Given the description of an element on the screen output the (x, y) to click on. 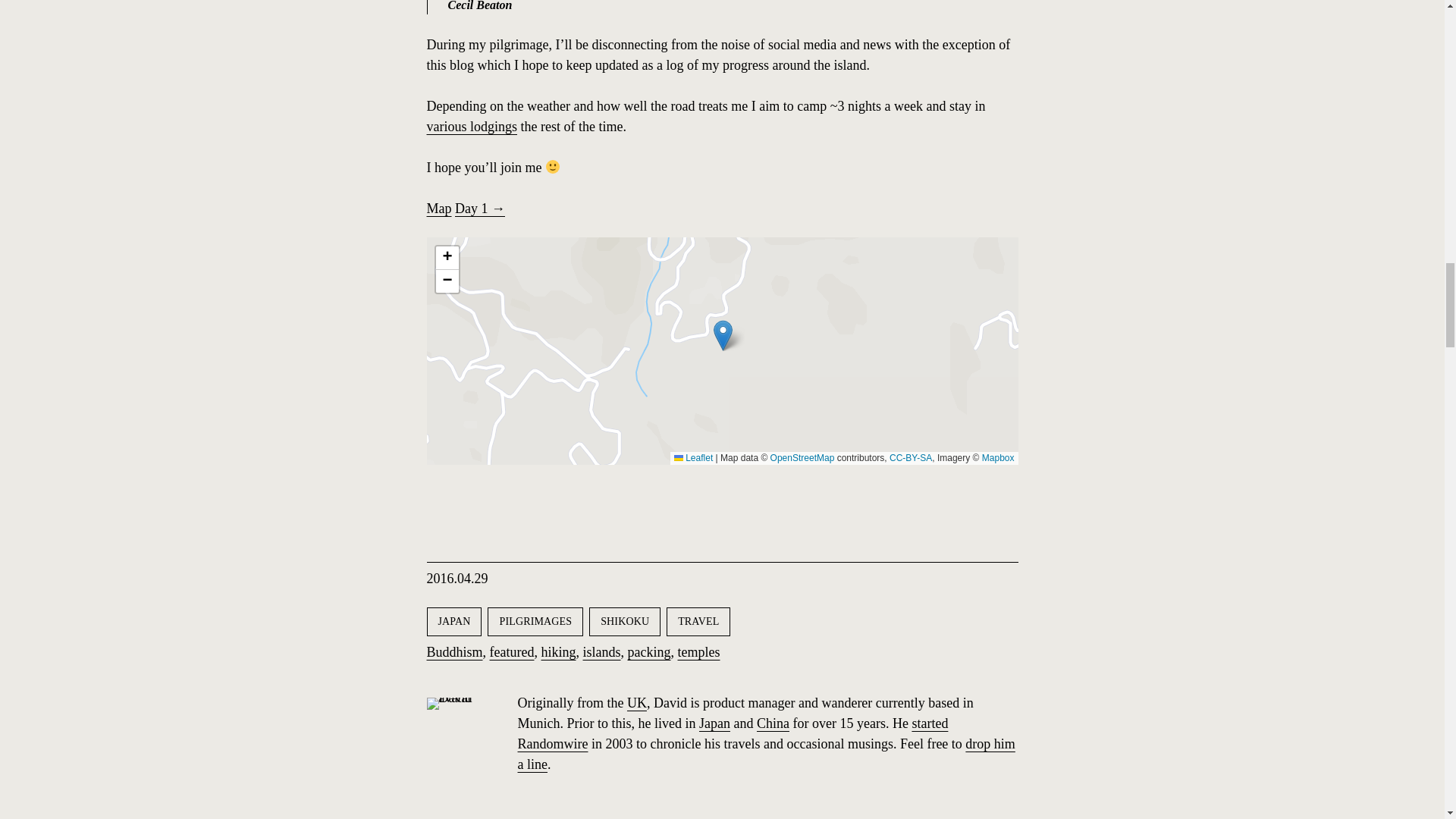
A JavaScript library for interactive maps (693, 457)
Zoom out (446, 281)
Zoom in (446, 258)
